Given the description of an element on the screen output the (x, y) to click on. 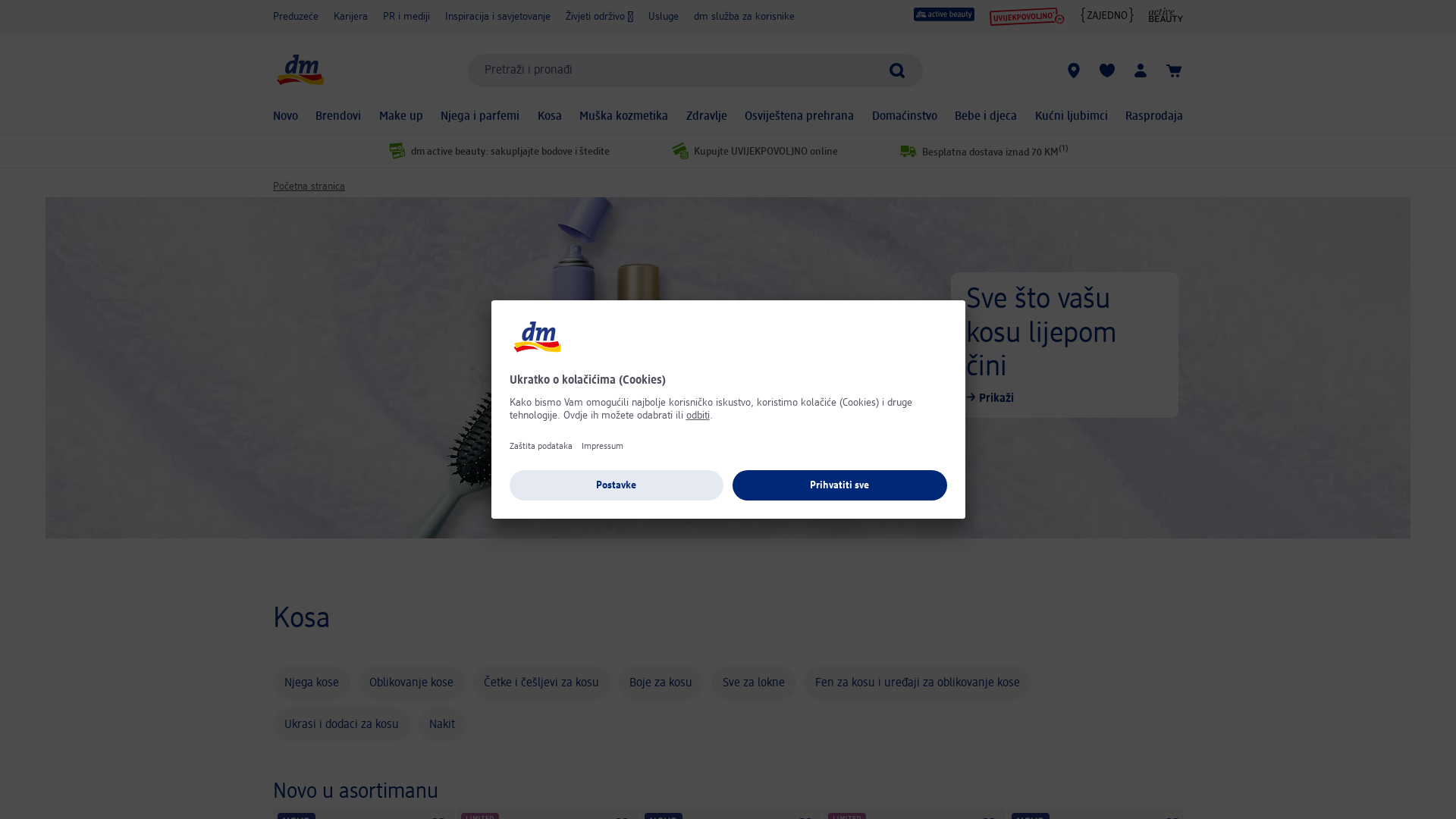
Boje za kosu Element type: text (655, 682)
Make up Element type: text (395, 116)
PR i mediji Element type: text (400, 16)
Kupujte UVIJEKPOVOLJNO online Element type: text (747, 150)
dm prodavnice Element type: hover (1073, 70)
Njega kose Element type: text (305, 682)
active beauty Online Magazin Element type: hover (1165, 14)
Novo Element type: text (278, 116)
Moji spremljeni proizvodi & Moji proizvodi Element type: hover (1107, 70)
Sve za lokne Element type: text (747, 682)
Zdravlje Element type: text (700, 116)
Usluge Element type: text (658, 16)
Inspiracija i savjetovanje Element type: text (492, 16)
Kosa Element type: text (543, 116)
Oblikovanje kose Element type: text (404, 682)
UVIJEKPOVOLJNO Element type: hover (1027, 16)
Ukrasi i dodaci za kosu Element type: text (335, 724)
Nakit Element type: text (436, 724)
Njega i parfemi Element type: text (474, 116)
Besplatna dostava iznad 70 KM(1) Element type: text (978, 150)
Bebe i djeca Element type: text (980, 116)
Brendovi Element type: text (332, 116)
Rasprodaja Element type: text (1147, 116)
Karijera Element type: text (344, 16)
Korpa Element type: hover (1173, 70)
active beauty Element type: hover (943, 14)
Pokreni pretragu Element type: hover (904, 70)
